Given the description of an element on the screen output the (x, y) to click on. 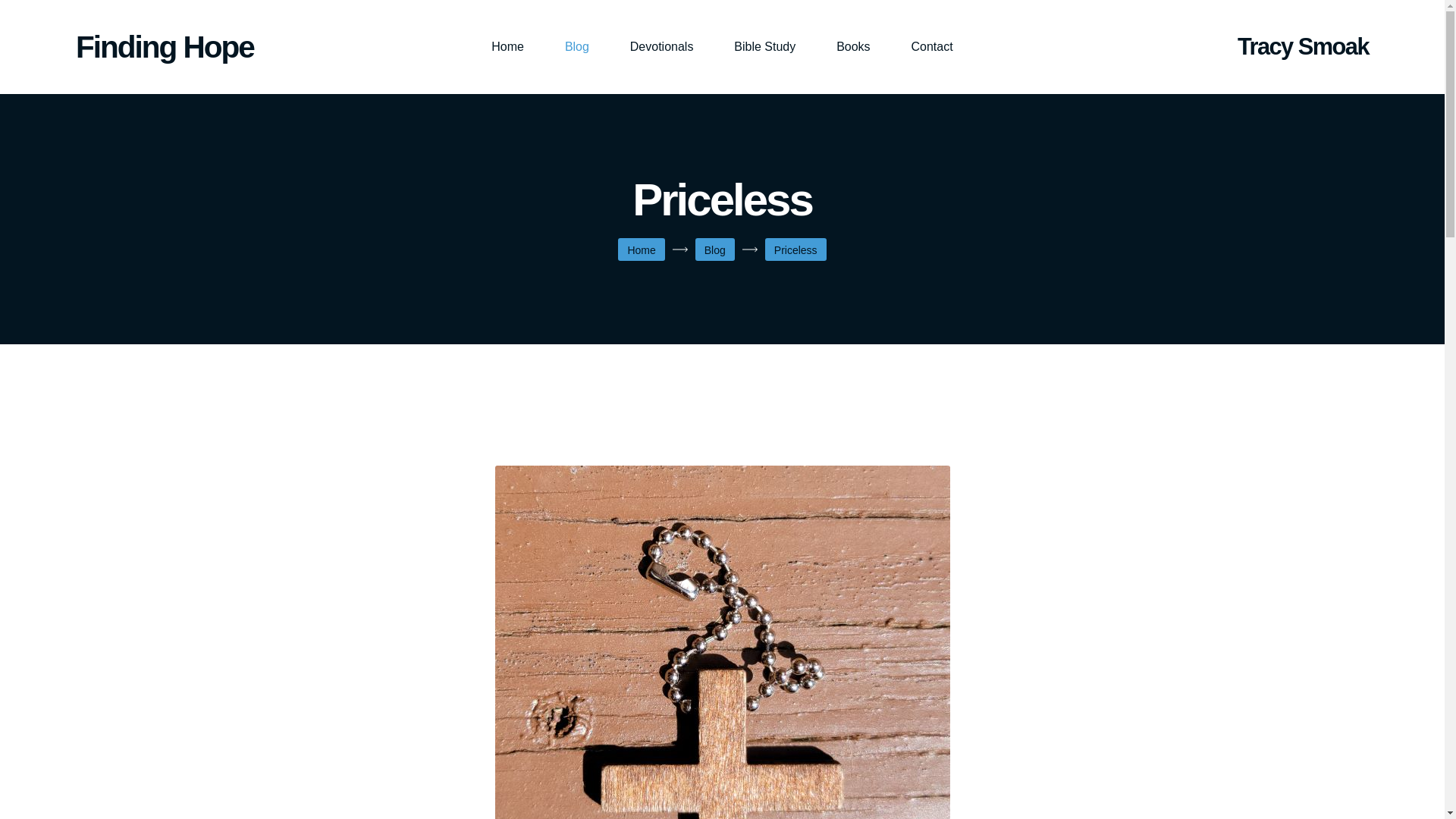
Finding Hope (173, 47)
Blog (714, 250)
Home (641, 250)
